Given the description of an element on the screen output the (x, y) to click on. 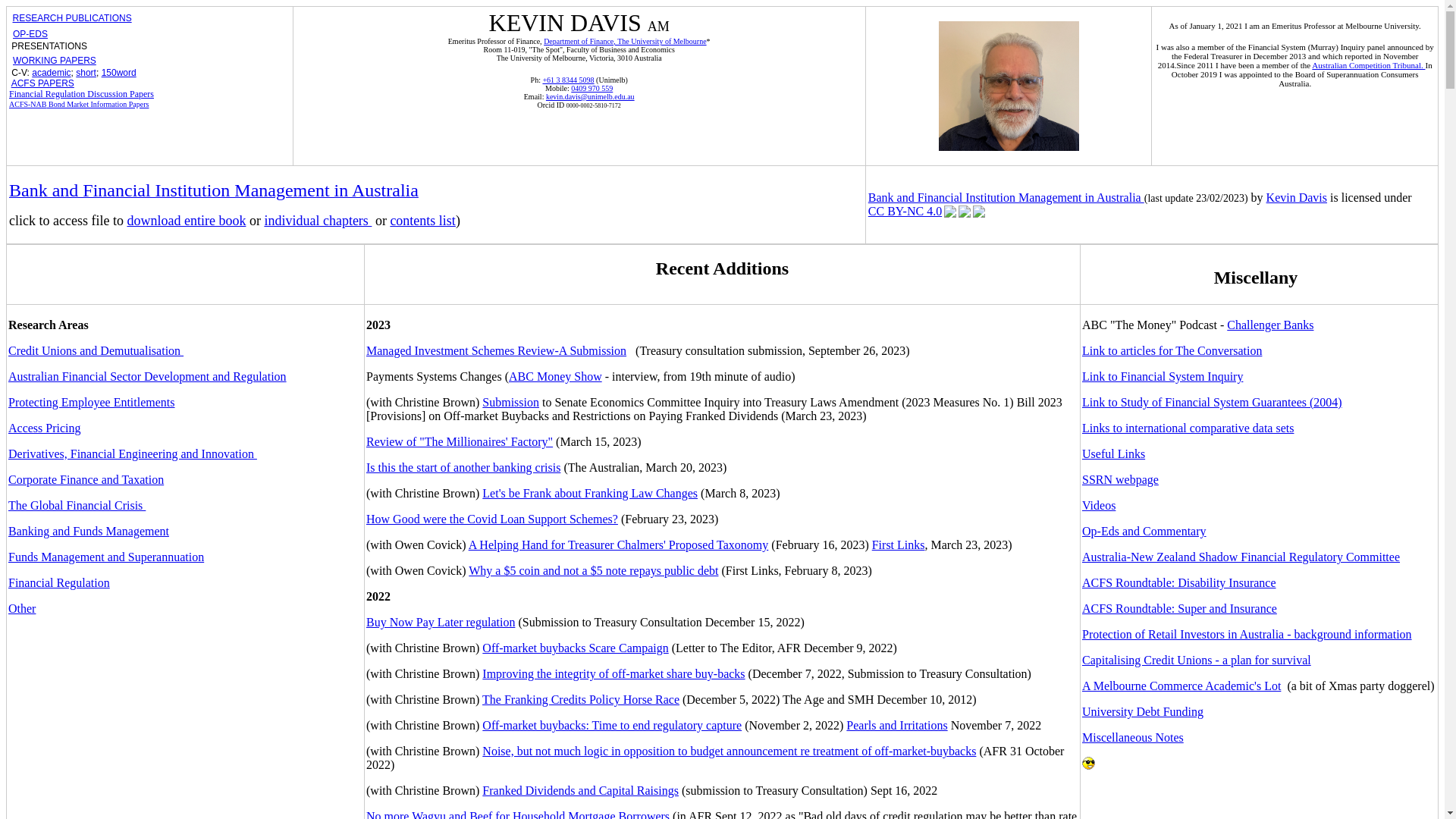
Funds Management and Superannuation Element type: text (105, 556)
CC BY-NC 4.0 Element type: text (926, 211)
A Helping Hand for Treasurer Chalmers' Proposed Taxonomy Element type: text (618, 544)
Is this the start of another banking crisis Element type: text (463, 467)
Capitalising Credit Unions - a plan for survival Element type: text (1196, 659)
Link to articles for The Conversation Element type: text (1171, 350)
Let's be Frank about Franking Law Changes Element type: text (589, 492)
Pearls and Irritations Element type: text (896, 724)
ACFS-NAB Bond Market Information Papers Element type: text (78, 102)
Useful Links Element type: text (1113, 453)
Corporate Finance and Taxation Element type: text (85, 479)
The Global Financial Crisis  Element type: text (76, 504)
Op-Eds and Commentary Element type: text (1144, 530)
ACFS Roundtable: Disability Insurance Element type: text (1179, 582)
+61 3 8344 5098 Element type: text (567, 79)
download entire book Element type: text (185, 220)
0409 970 559 Element type: text (591, 88)
ACFS PAPERS Element type: text (42, 83)
Other Element type: text (21, 608)
Link to Study of Financial System Guarantees (2004) Element type: text (1212, 401)
Miscellaneous Notes Element type: text (1132, 737)
kevin.davis@unimelb.edu.au Element type: text (590, 96)
150word Element type: text (118, 72)
The Franking Credits Policy Horse Race Element type: text (580, 699)
Review of "The Millionaires' Factory" Element type: text (459, 441)
RESEARCH PUBLICATIONS Element type: text (71, 17)
Derivatives, Financial Engineering and Innovation  Element type: text (132, 453)
Franked Dividends and Capital Raisings Element type: text (580, 790)
short Element type: text (85, 72)
Australian Financial Sector Development and Regulation Element type: text (147, 376)
Off-market buybacks: Time to end regulatory capture Element type: text (611, 724)
Bank and Financial Institution Management in Australia Element type: text (1006, 197)
Challenger Banks Element type: text (1269, 324)
OP-EDS Element type: text (29, 33)
How Good were the Covid Loan Support Schemes? Element type: text (492, 518)
Videos Element type: text (1098, 504)
Australia-New Zealand Shadow Financial Regulatory Committee Element type: text (1240, 556)
Bank and Financial Institution Management in Australia Element type: text (213, 191)
Submission Element type: text (510, 401)
Managed Investment Schemes Review-A Submission Element type: text (496, 350)
academic Element type: text (50, 72)
Protecting Employee Entitlements Element type: text (91, 401)
Credit Unions and Demutualisation  Element type: text (95, 350)
Improving the integrity of off-market share buy-backs Element type: text (613, 673)
University Debt Funding Element type: text (1142, 711)
ACFS Roundtable: Super and Insurance Element type: text (1179, 608)
contents list Element type: text (422, 220)
individual chapters  Element type: text (317, 220)
First Links Element type: text (898, 544)
Buy Now Pay Later regulation Element type: text (440, 621)
Link to Financial System Inquiry Element type: text (1162, 376)
Access Pricing Element type: text (44, 427)
Australian Competition Tribunal. Element type: text (1367, 64)
Banking and Funds Management Element type: text (88, 530)
Financial Regulation Element type: text (58, 582)
Why a $5 coin and not a $5 note repays public debt Element type: text (593, 570)
A Melbourne Commerce Academic's Lot Element type: text (1181, 685)
Department of Finance, The University of Melbourne Element type: text (624, 41)
Links to international comparative data sets Element type: text (1187, 427)
SSRN webpage Element type: text (1120, 479)
WORKING PAPERS Element type: text (54, 60)
ABC Money Show Element type: text (555, 376)
Financial Regulation Discussion Papers Element type: text (81, 93)
Kevin Davis Element type: text (1296, 197)
Off-market buybacks Scare Campaign Element type: text (575, 647)
